Given the description of an element on the screen output the (x, y) to click on. 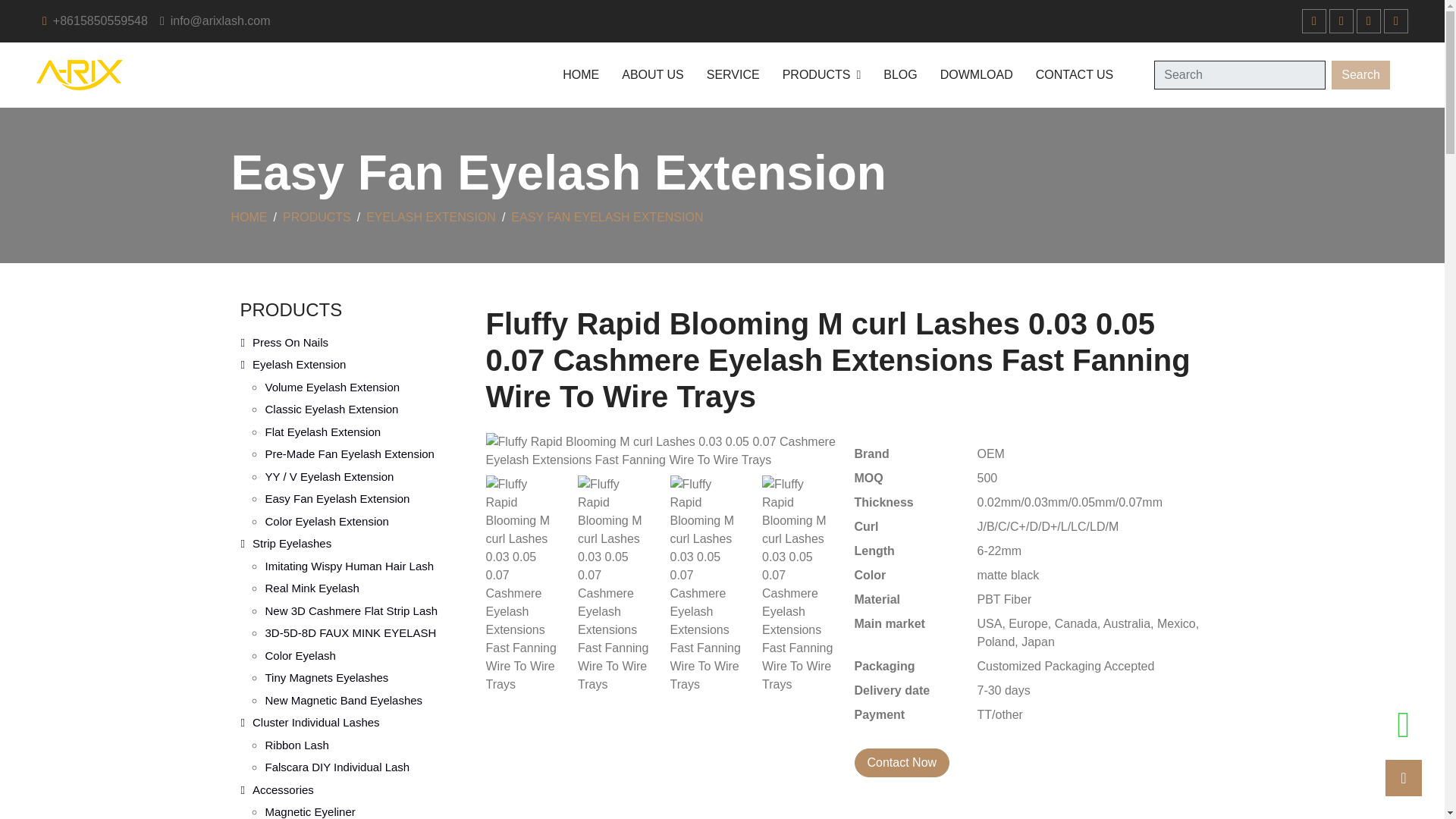
PRODUCTS (822, 75)
CONTACT US (1074, 75)
Search (1361, 74)
EASY FAN EYELASH EXTENSION (607, 216)
HOME (248, 216)
Contact Now (901, 762)
DOWMLOAD (976, 75)
Eyelash Extension (353, 364)
Press On Nails (353, 342)
PRODUCTS (291, 309)
